Given the description of an element on the screen output the (x, y) to click on. 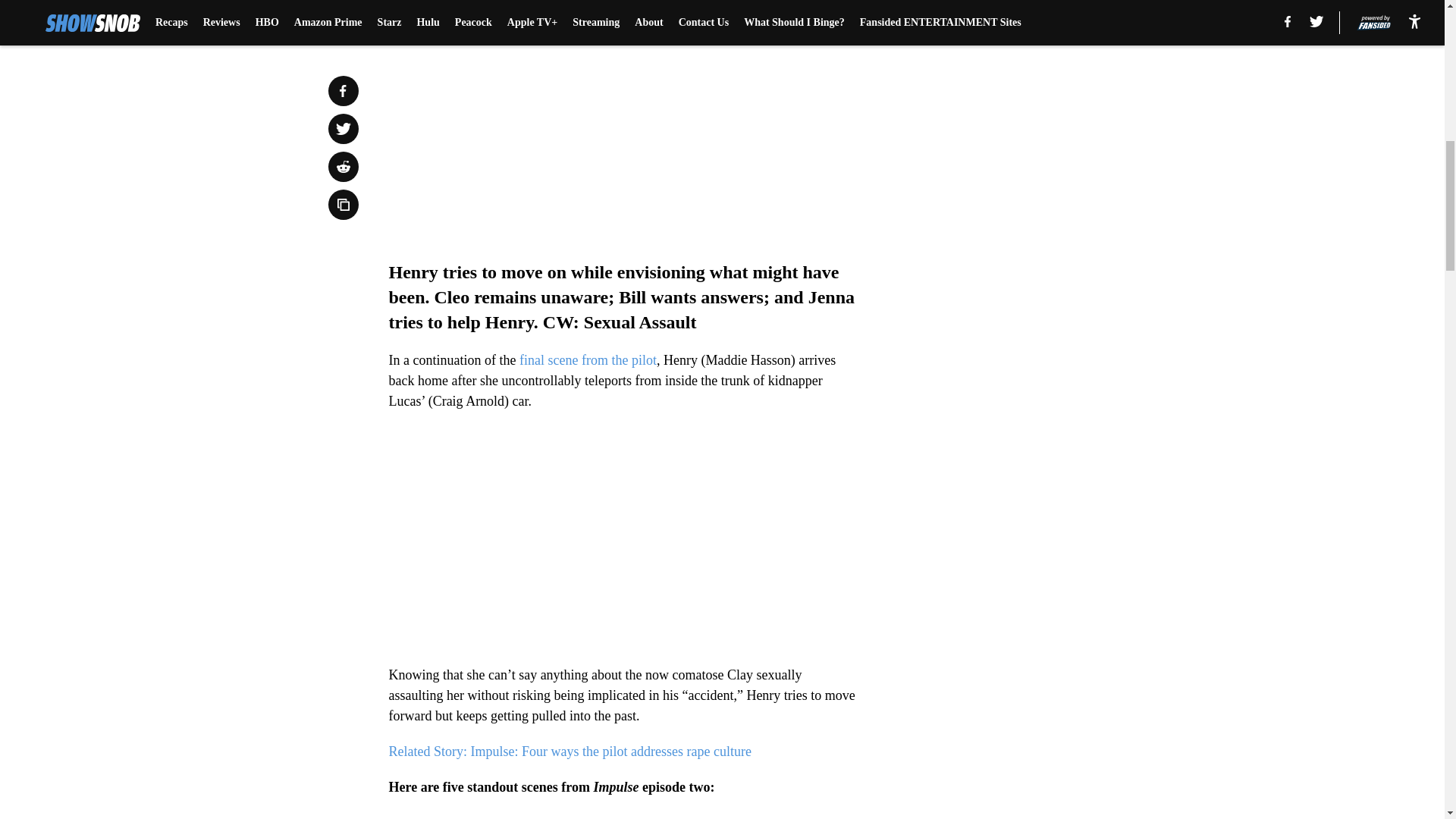
3rd party ad content (1047, 84)
3rd party ad content (1047, 294)
final scene from the pilot (587, 359)
